Given the description of an element on the screen output the (x, y) to click on. 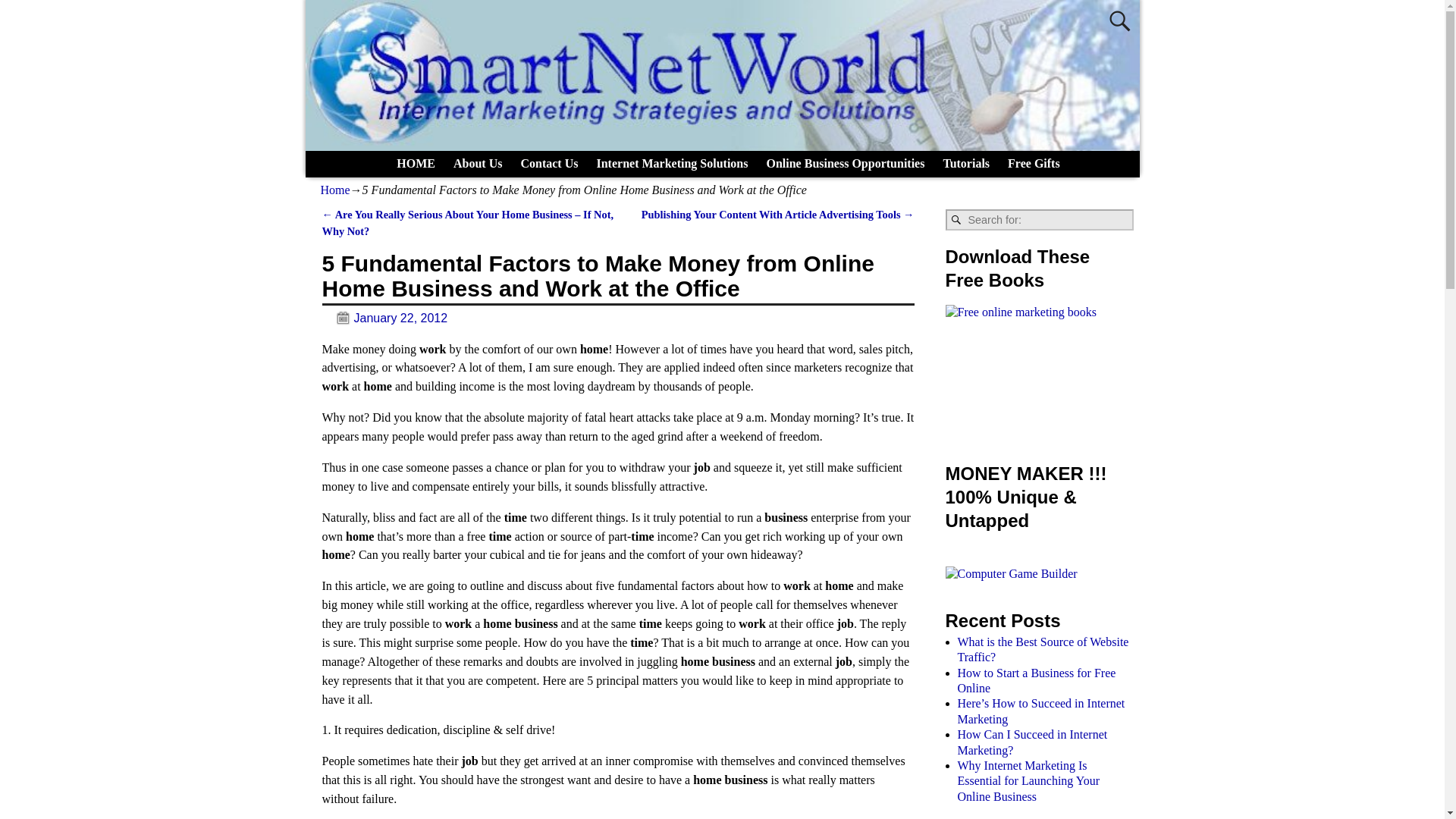
Free Gifts (1033, 162)
Tutorials (965, 162)
1:00 pm (383, 318)
Internet Marketing Solutions (671, 162)
Online Business Opportunities (845, 162)
About Us (477, 162)
January 22, 2012 (383, 318)
Contact Us (548, 162)
Home (334, 189)
HOME (415, 162)
